Given the description of an element on the screen output the (x, y) to click on. 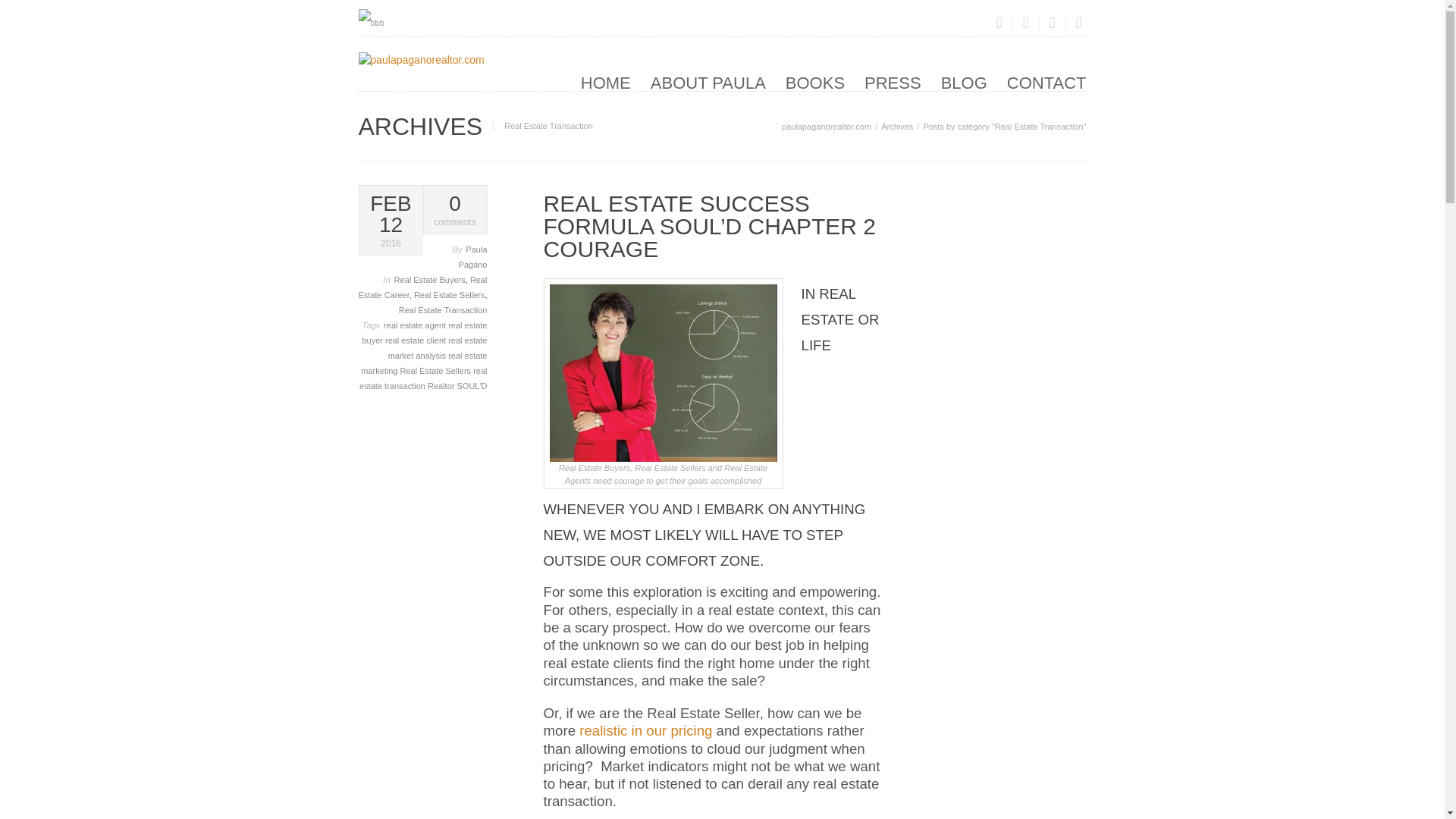
BOOKS (815, 84)
Posts by Paula Pagano (472, 256)
Paula Pagano (472, 256)
BLOG (963, 84)
CONTACT (1046, 84)
ABOUT PAULA (707, 84)
paulapaganorealtor.com (825, 126)
HOME (605, 84)
PRESS (454, 211)
